Given the description of an element on the screen output the (x, y) to click on. 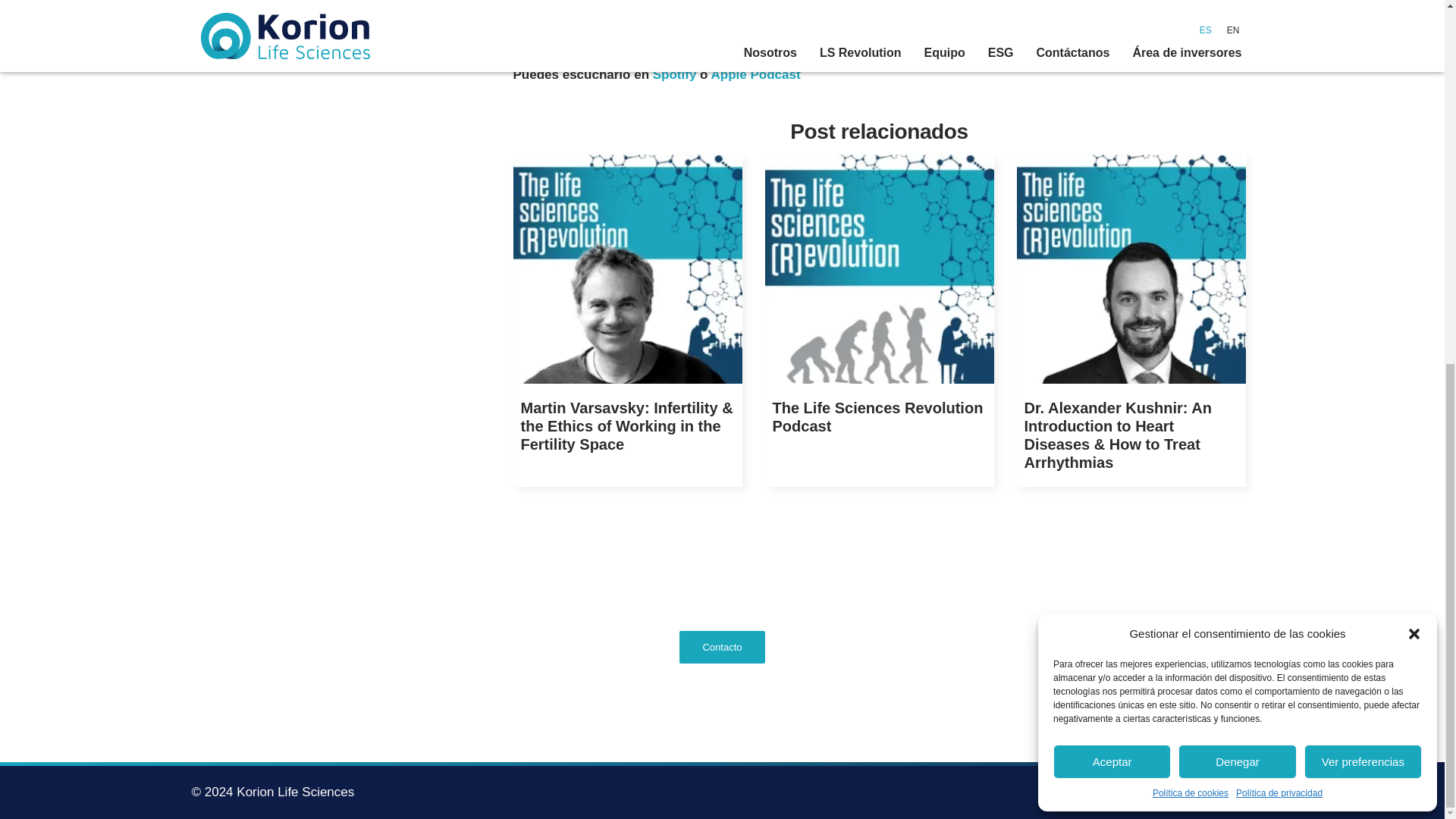
Aceptar (1111, 110)
Denegar (1236, 110)
Ver preferencias (1363, 110)
